Given the description of an element on the screen output the (x, y) to click on. 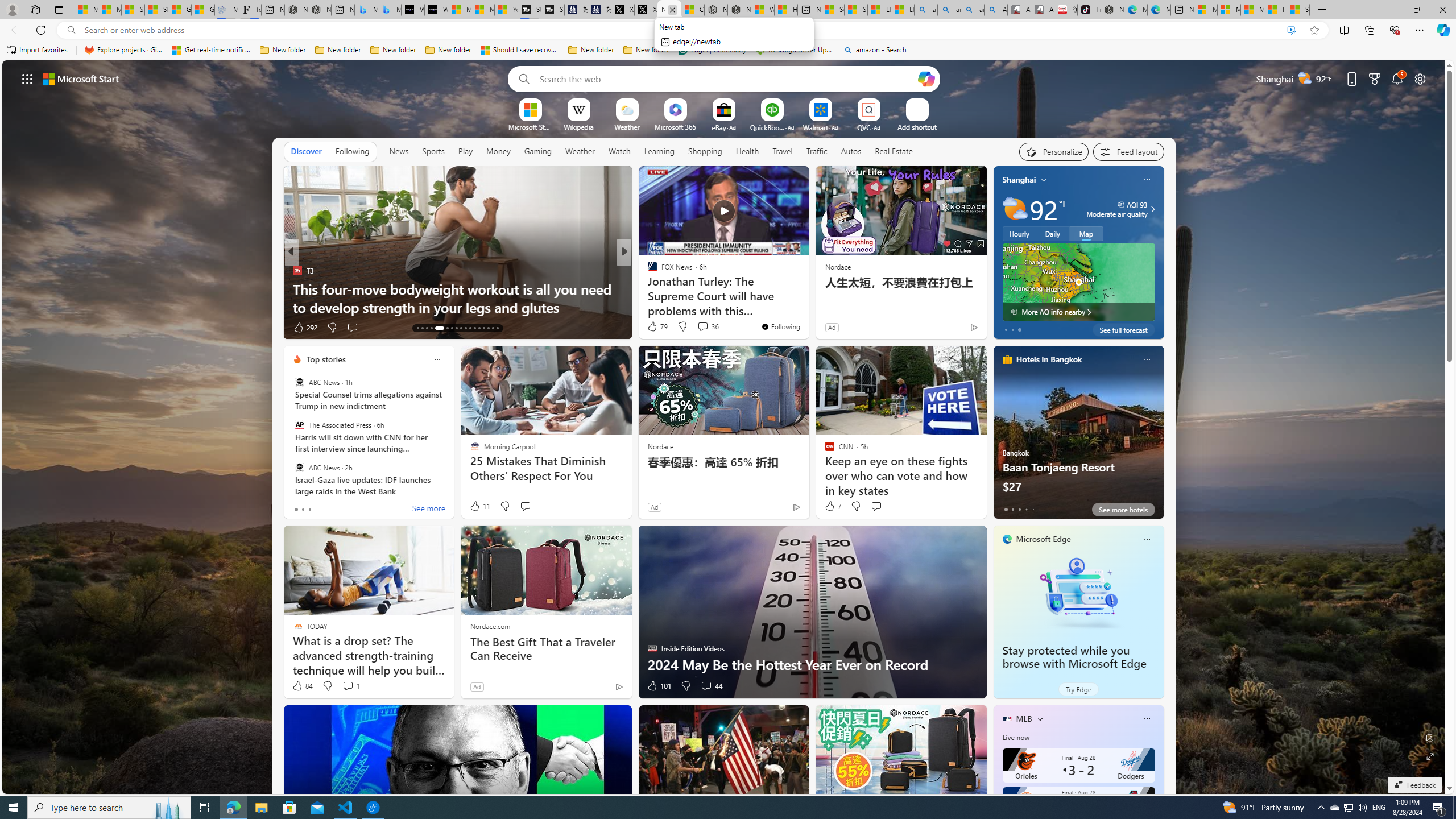
Should I save recovered Word documents? - Microsoft Support (519, 49)
Money (498, 151)
Shopping (705, 151)
View comments 1 Comment (347, 685)
Health (746, 151)
AutomationID: tab-18 (446, 328)
Expand background (1430, 756)
View comments 334 Comment (6, 327)
Following (352, 151)
MSNBC (647, 288)
AutomationID: tab-23 (470, 328)
